Given the description of an element on the screen output the (x, y) to click on. 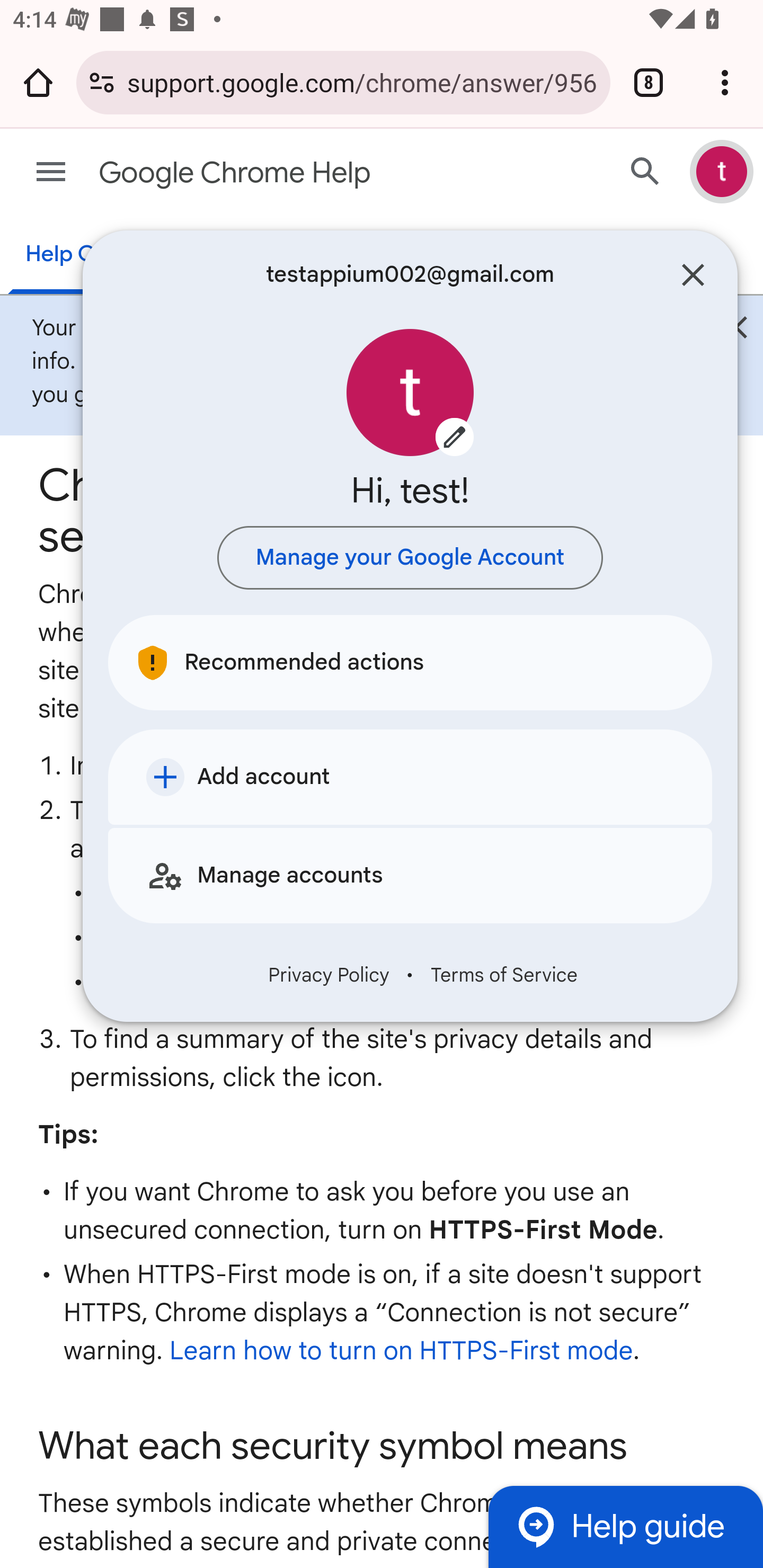
Open the home page (38, 82)
Connection is secure (101, 82)
Switch or close tabs (648, 82)
Customize and control Google Chrome (724, 82)
Main menu (50, 171)
Google Chrome Help (311, 173)
Search Help Center (645, 171)
Close menu (692, 275)
Change profile picture (409, 392)
Add account (opens a new tab) Add account (409, 776)
Manage accounts (409, 875)
Privacy Policy (opens a new tab) Privacy Policy (328, 975)
Learn how to turn on HTTPS-First mode (401, 1350)
Help guide (625, 1527)
